Given the description of an element on the screen output the (x, y) to click on. 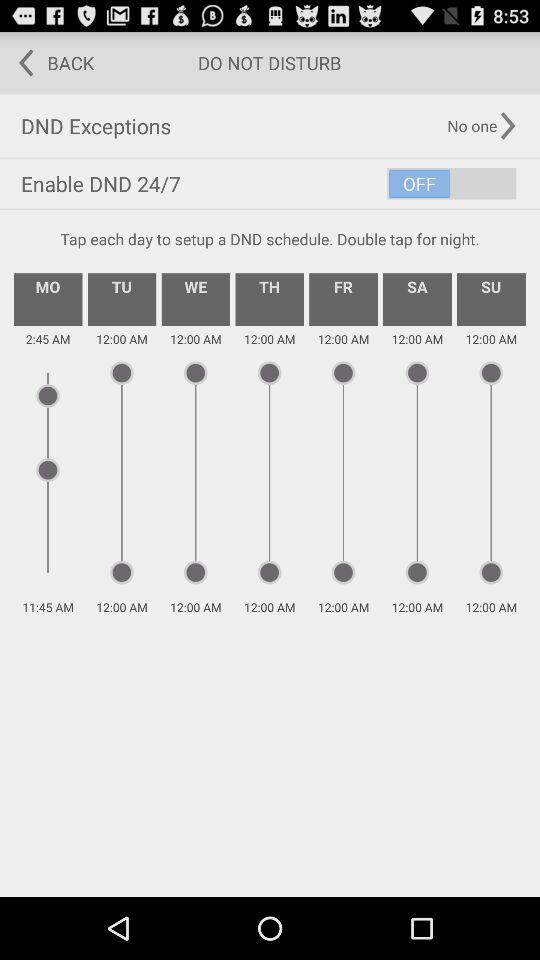
open item next to the 12:00 am (195, 299)
